Given the description of an element on the screen output the (x, y) to click on. 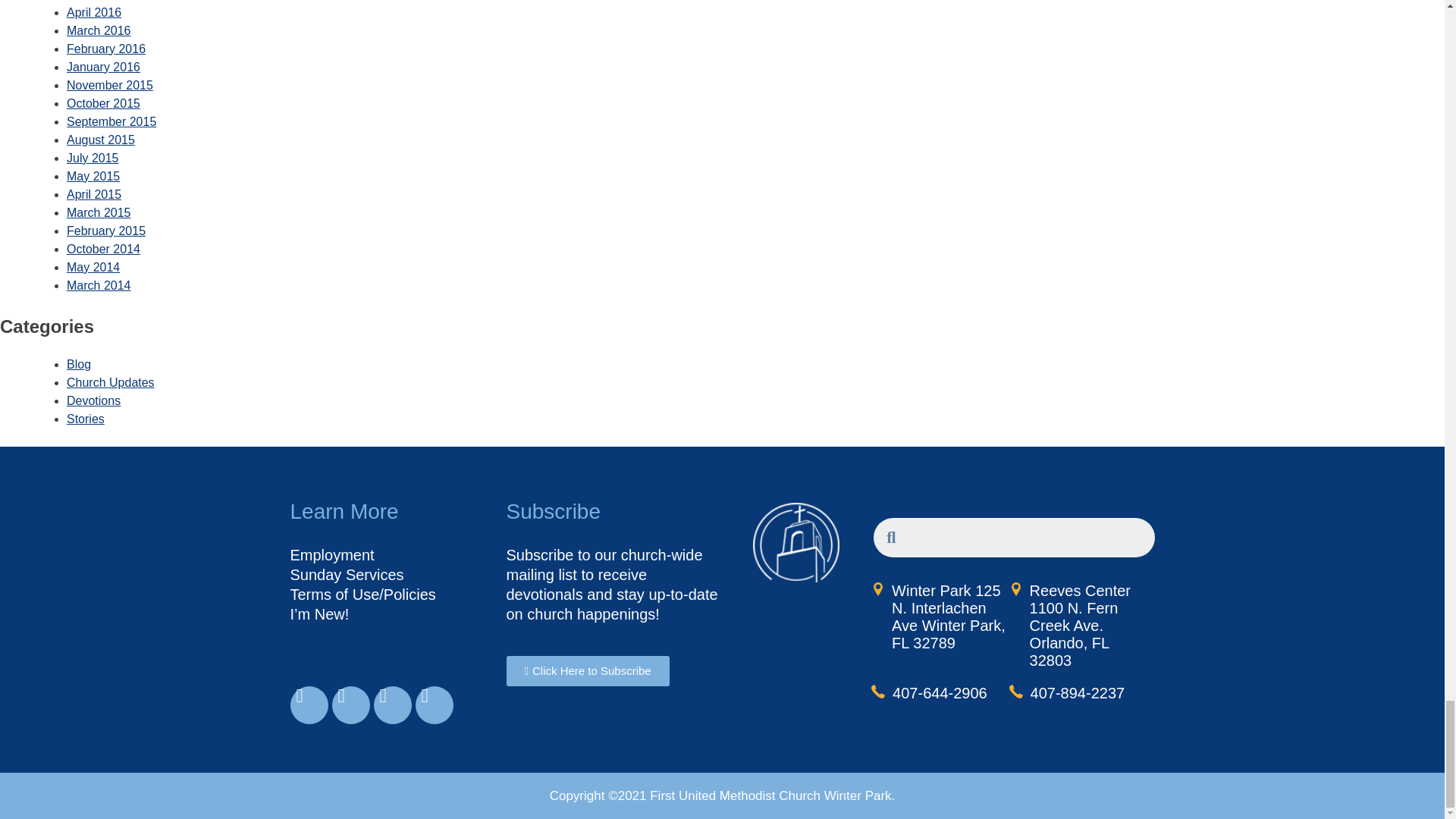
Search (1025, 537)
